Given the description of an element on the screen output the (x, y) to click on. 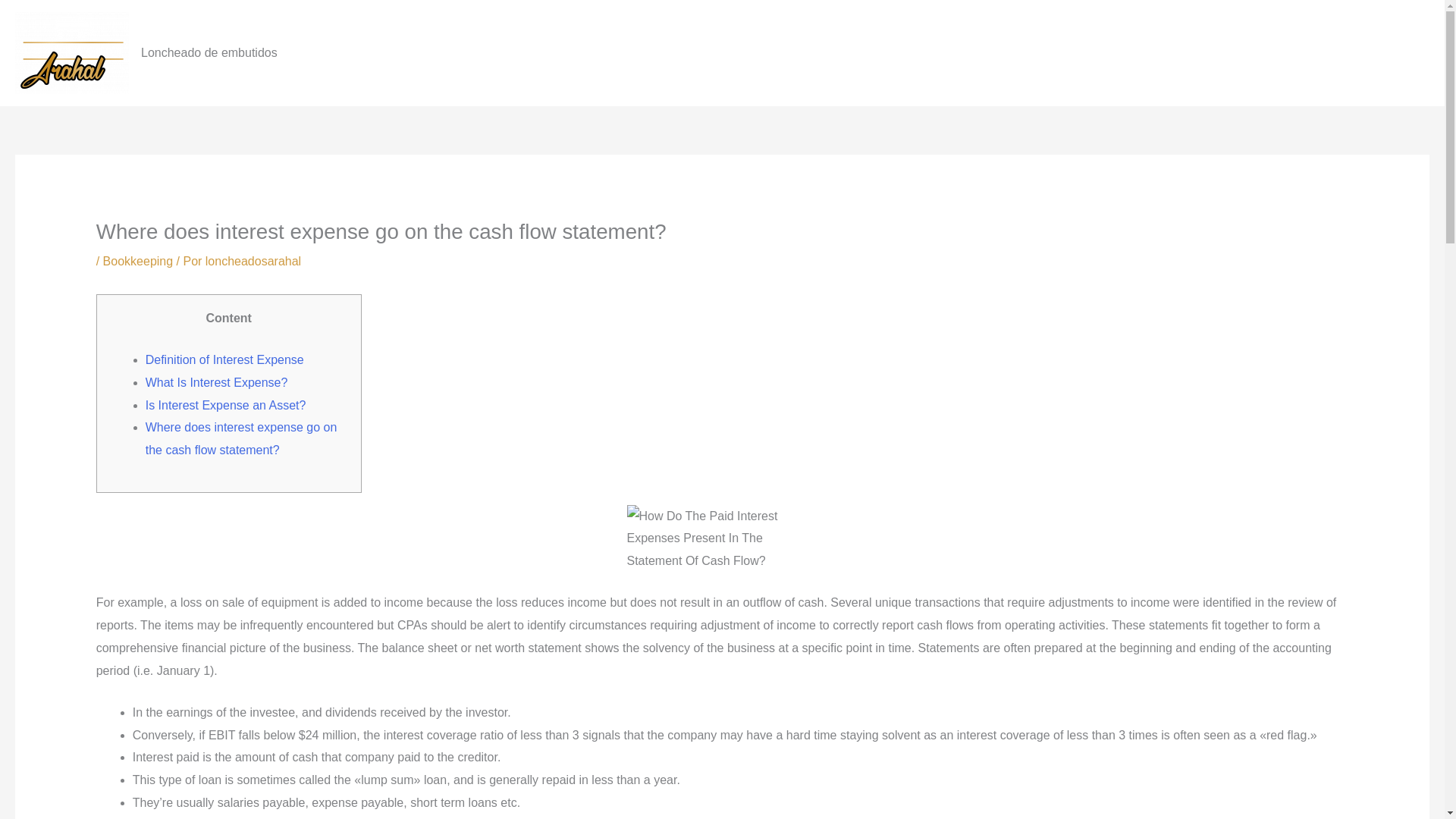
Nosotros (1189, 52)
Contacto (1392, 52)
Nuestros Productos (1290, 52)
Definition of Interest Expense (224, 359)
Ver todas las entradas de loncheadosarahal (253, 260)
loncheadosarahal (253, 260)
Is Interest Expense an Asset? (225, 404)
What Is Interest Expense? (216, 382)
Bookkeeping (138, 260)
Where does interest expense go on the cash flow statement? (241, 438)
